Given the description of an element on the screen output the (x, y) to click on. 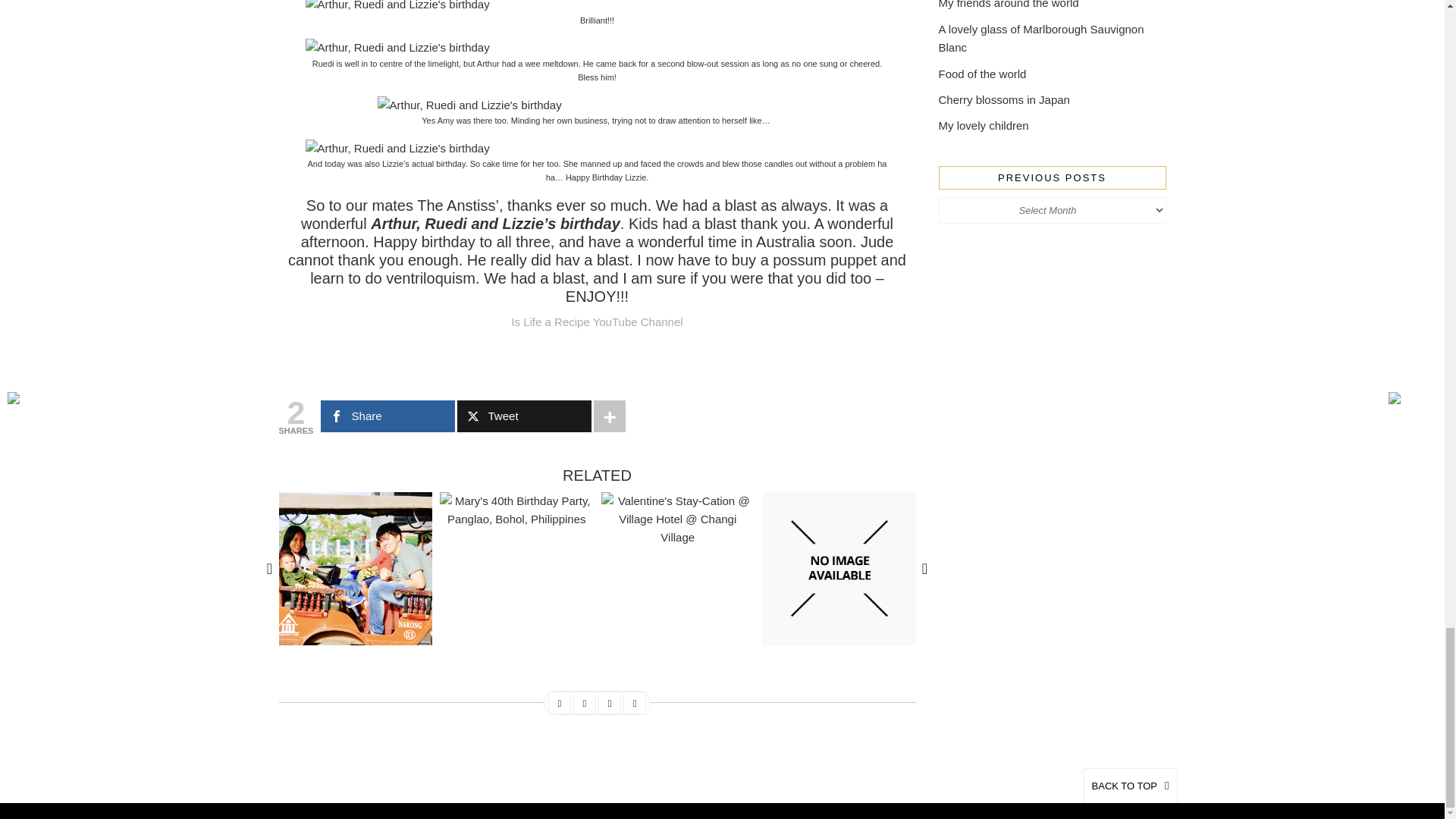
Share on Facebook! (559, 703)
Tweet this! (584, 703)
Is Life a Recipe YouTube Channel (596, 321)
BACK TO TOP (1130, 785)
Pin it! (609, 703)
Share (387, 416)
Share on Tumblr! (634, 703)
Tweet (524, 416)
